Given the description of an element on the screen output the (x, y) to click on. 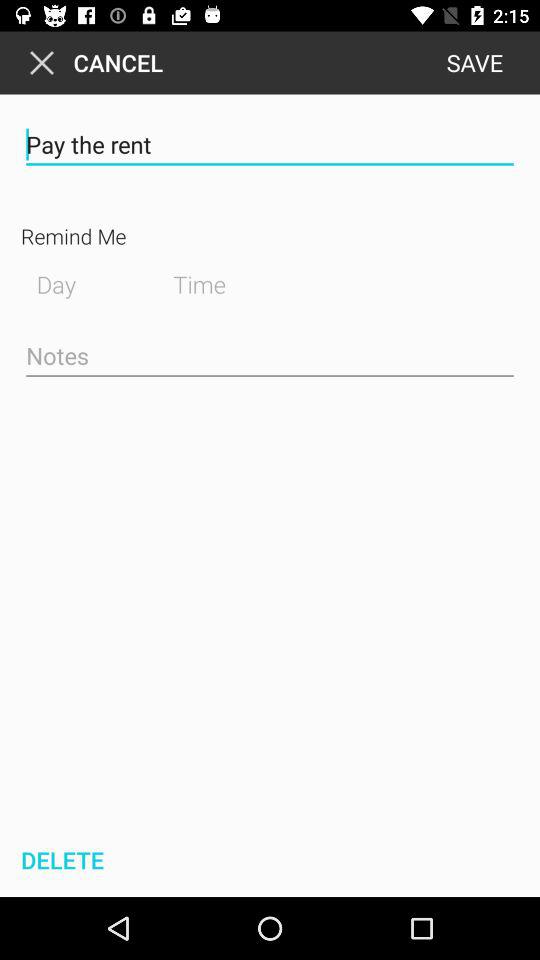
launch the item at the top right corner (474, 62)
